Given the description of an element on the screen output the (x, y) to click on. 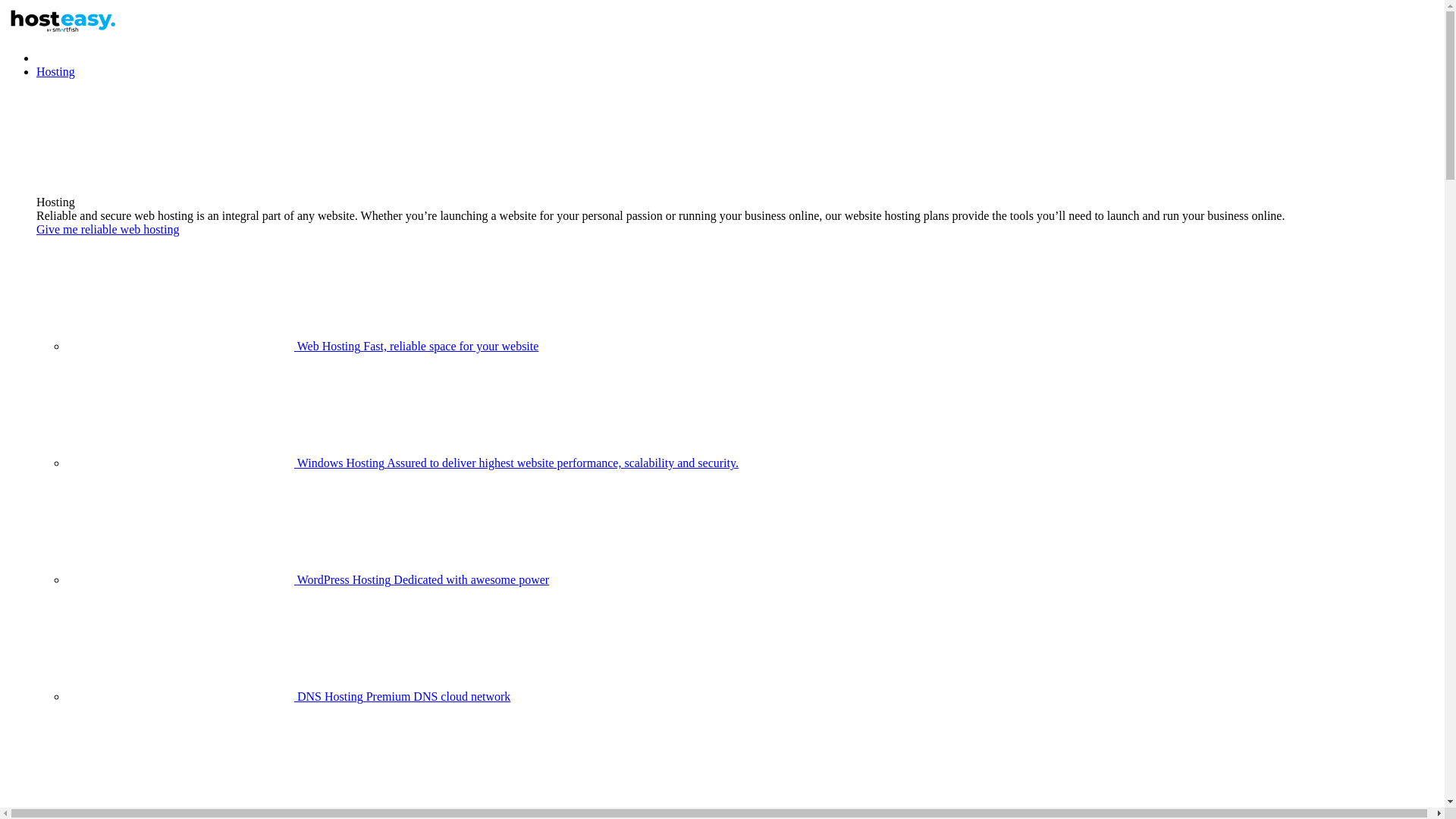
Web Hosting Fast, reliable space for your website Element type: text (302, 345)
Hosting Element type: text (55, 71)
DNS Hosting Premium DNS cloud network Element type: text (288, 696)
Give me reliable web hosting Element type: text (107, 228)
WordPress Hosting Dedicated with awesome power Element type: text (307, 579)
